Given the description of an element on the screen output the (x, y) to click on. 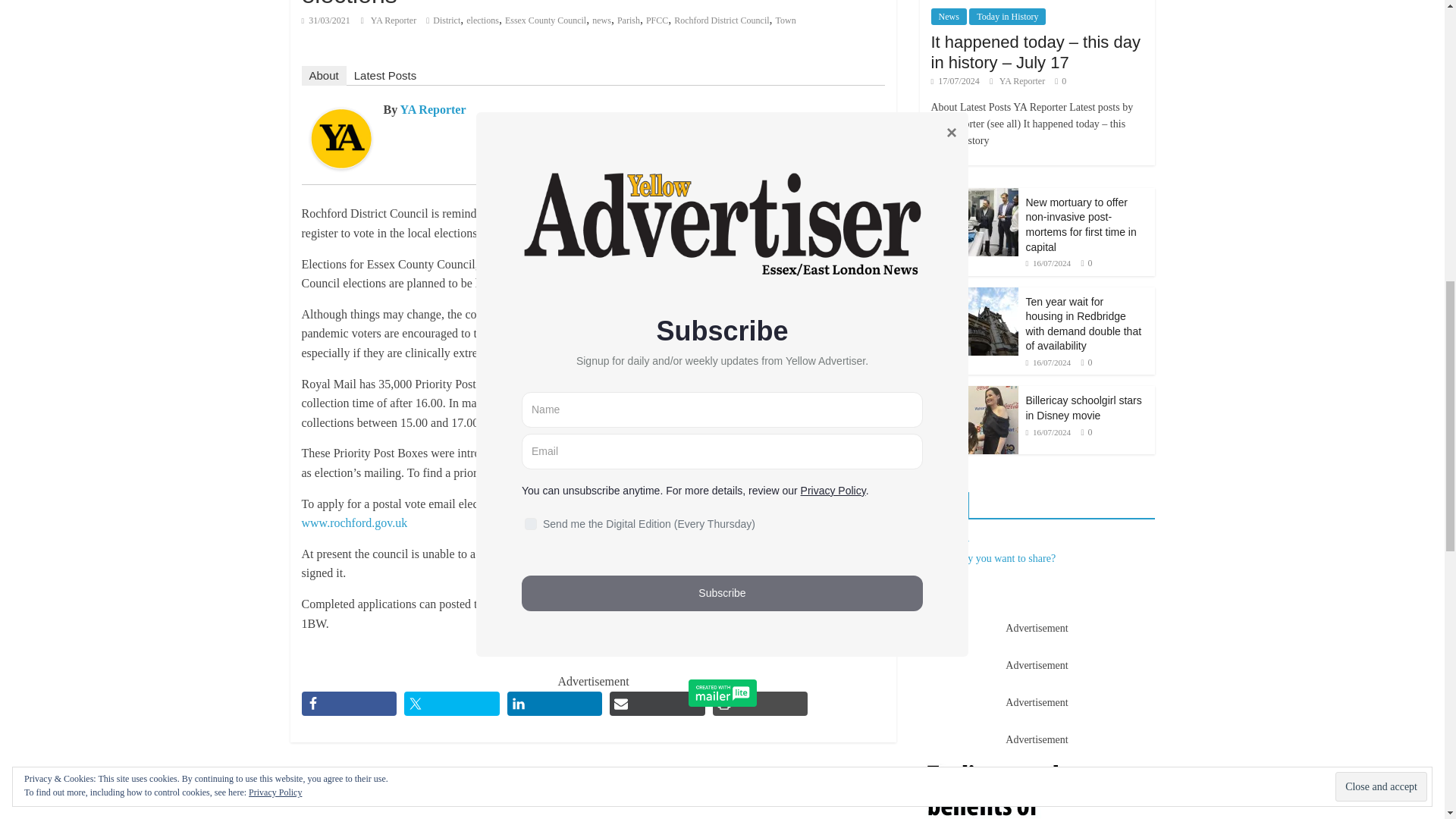
Share on Facebook (349, 703)
Share via Email (657, 703)
YA Reporter (341, 117)
12:13 pm (325, 20)
YA Reporter (395, 20)
Print this Page (760, 703)
Share on Twitter (451, 703)
Share on LinkedIn (554, 703)
